Given the description of an element on the screen output the (x, y) to click on. 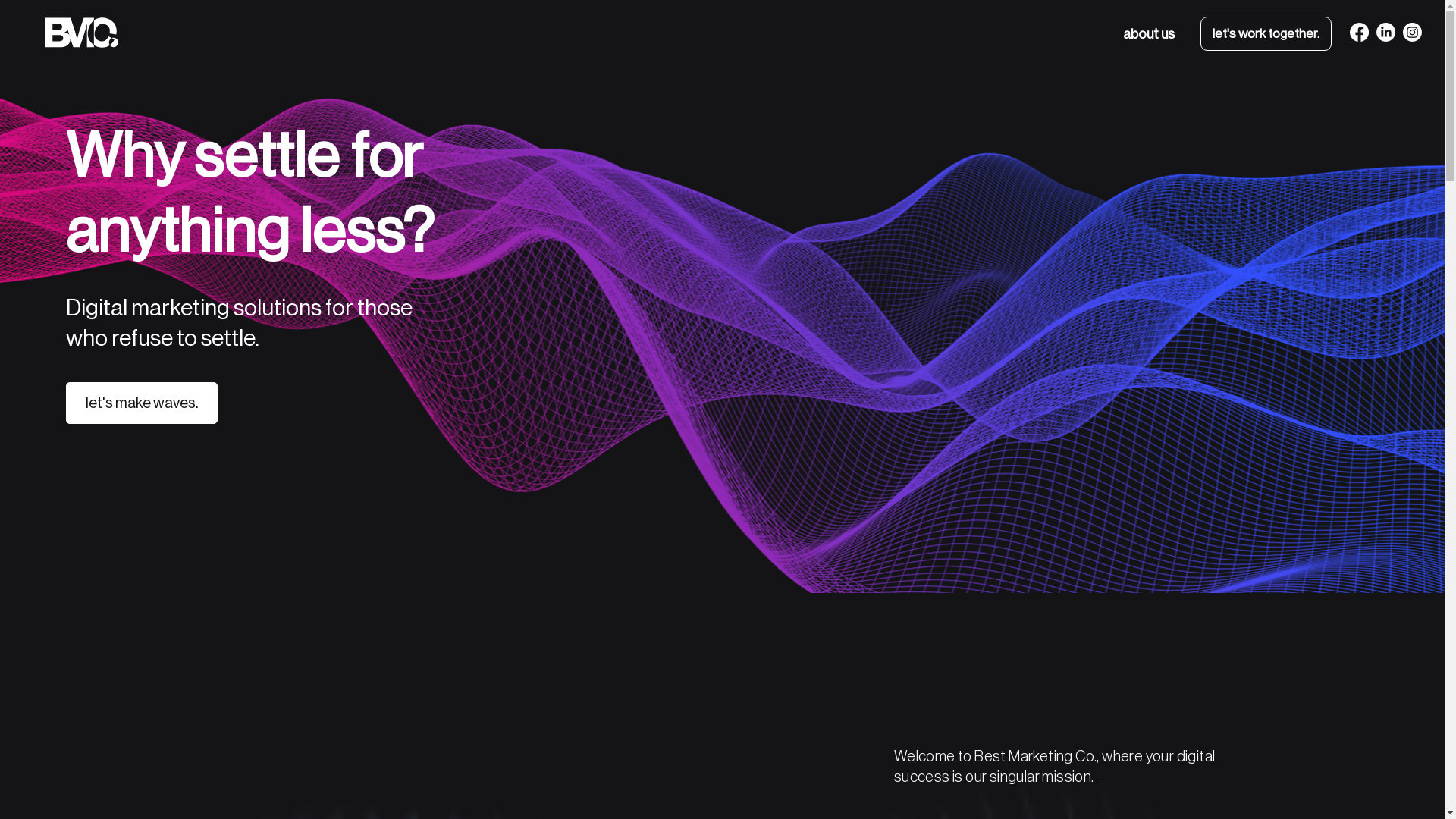
let's work together. Element type: text (1265, 33)
about us Element type: text (1148, 34)
let's make waves. Element type: text (141, 402)
